Given the description of an element on the screen output the (x, y) to click on. 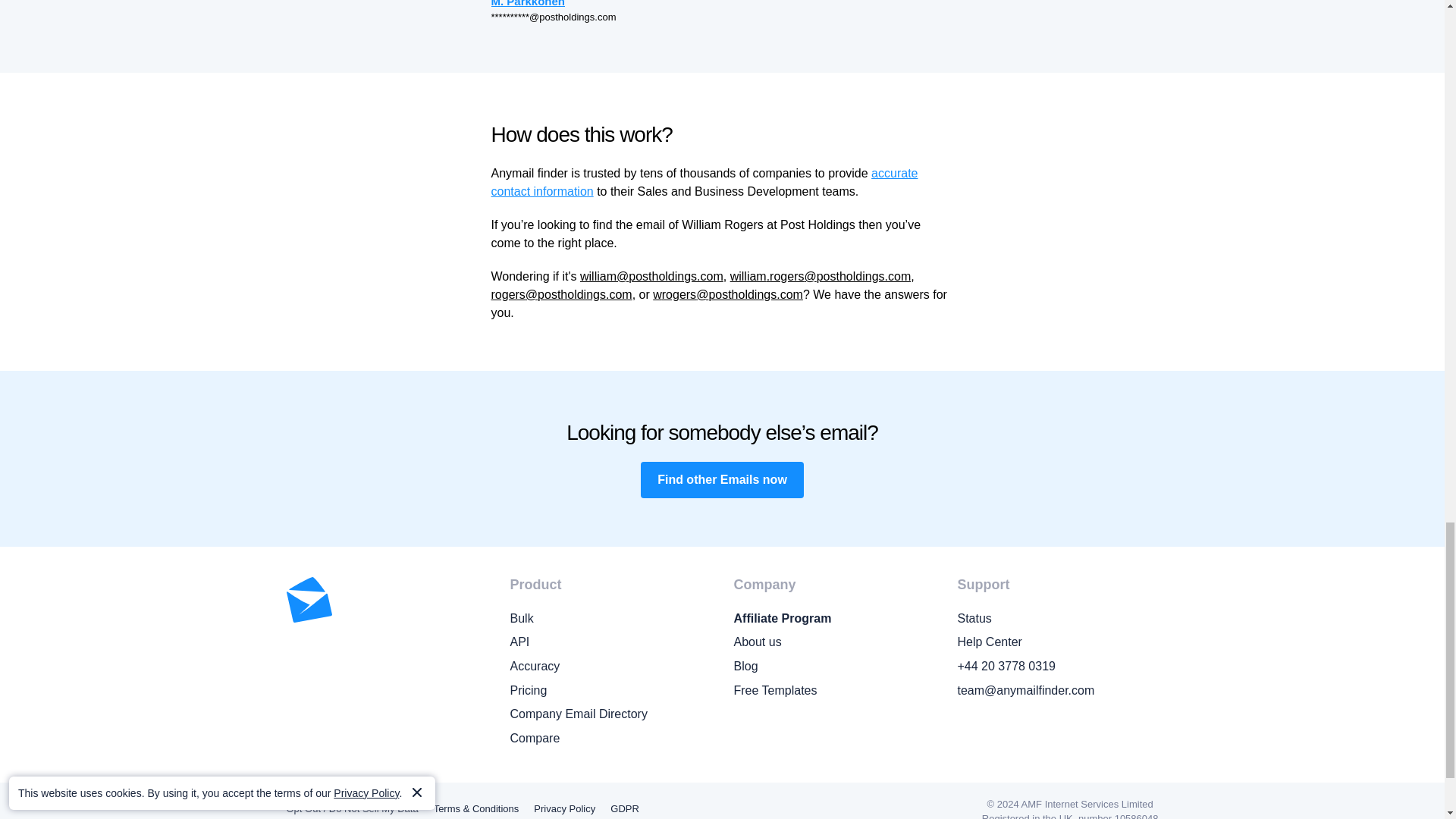
accurate contact information (705, 182)
Company Email Directory (609, 713)
API (609, 641)
Bulk (609, 618)
About us (833, 641)
Pricing (609, 690)
Accuracy (609, 666)
Status (1056, 618)
Find other Emails now (721, 479)
M. Parkkonen (604, 4)
